Given the description of an element on the screen output the (x, y) to click on. 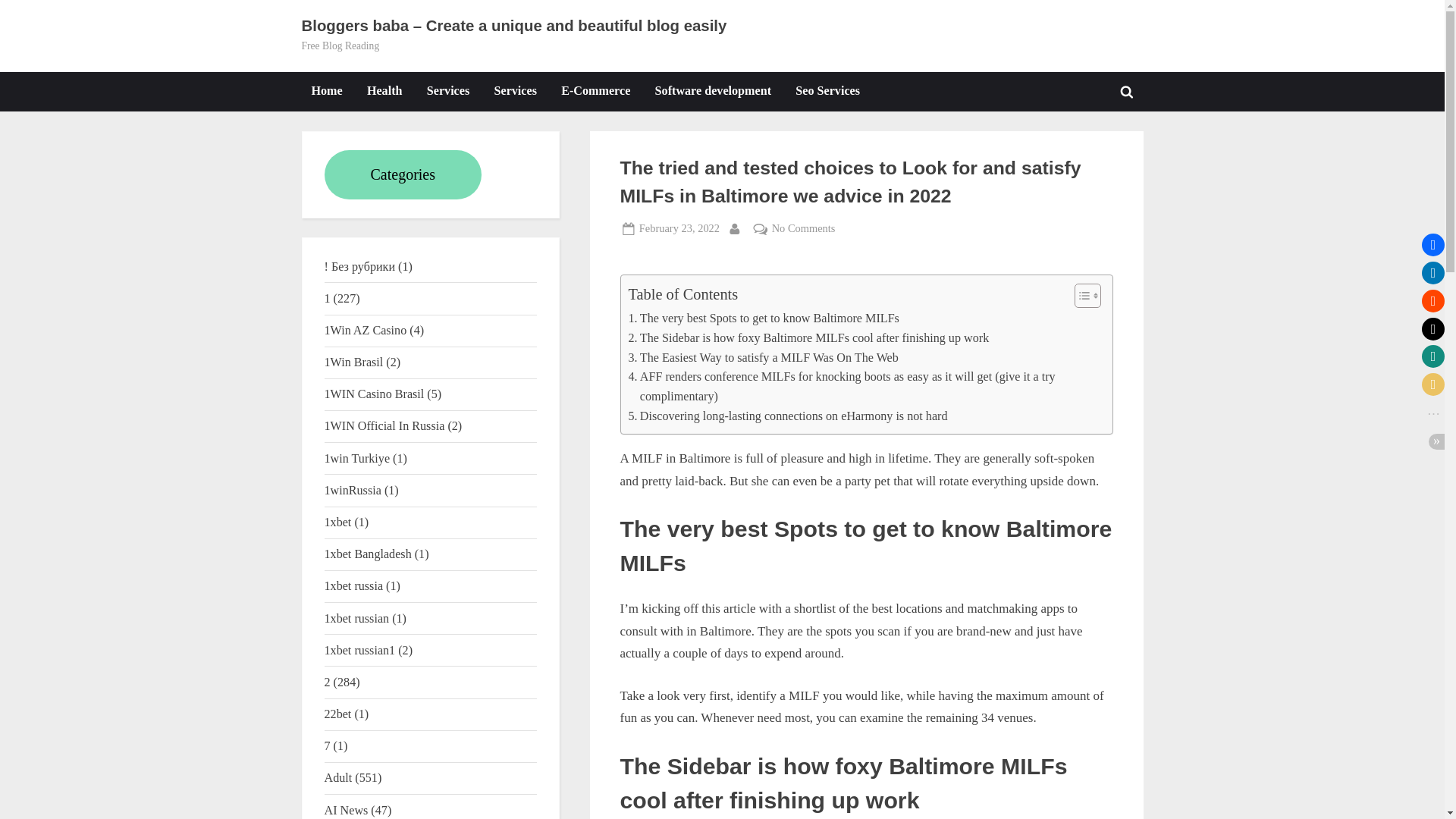
1Win Brasil (354, 361)
Health (384, 91)
Seo Services (827, 91)
The very best Spots to get to know Baltimore MILFs (762, 318)
1xbet Bangladesh (368, 553)
1WIN Official In Russia (384, 425)
1winRussia (352, 490)
1xbet russian1 (360, 649)
Categories (402, 174)
1win Turkiye (357, 458)
E-Commerce (595, 91)
Home (326, 91)
The Easiest Way to satisfy a MILF Was On The Web (762, 357)
1xbet (338, 521)
